Given the description of an element on the screen output the (x, y) to click on. 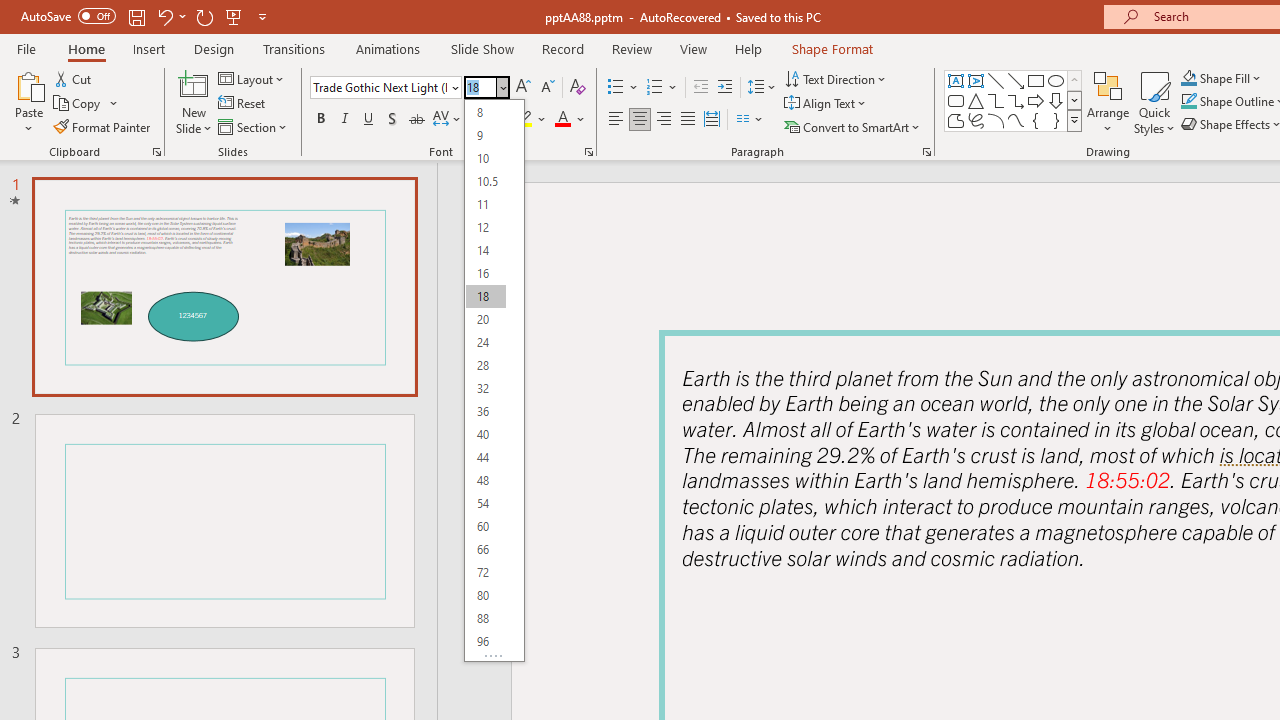
60 (485, 525)
10.5 (485, 180)
